Given the description of an element on the screen output the (x, y) to click on. 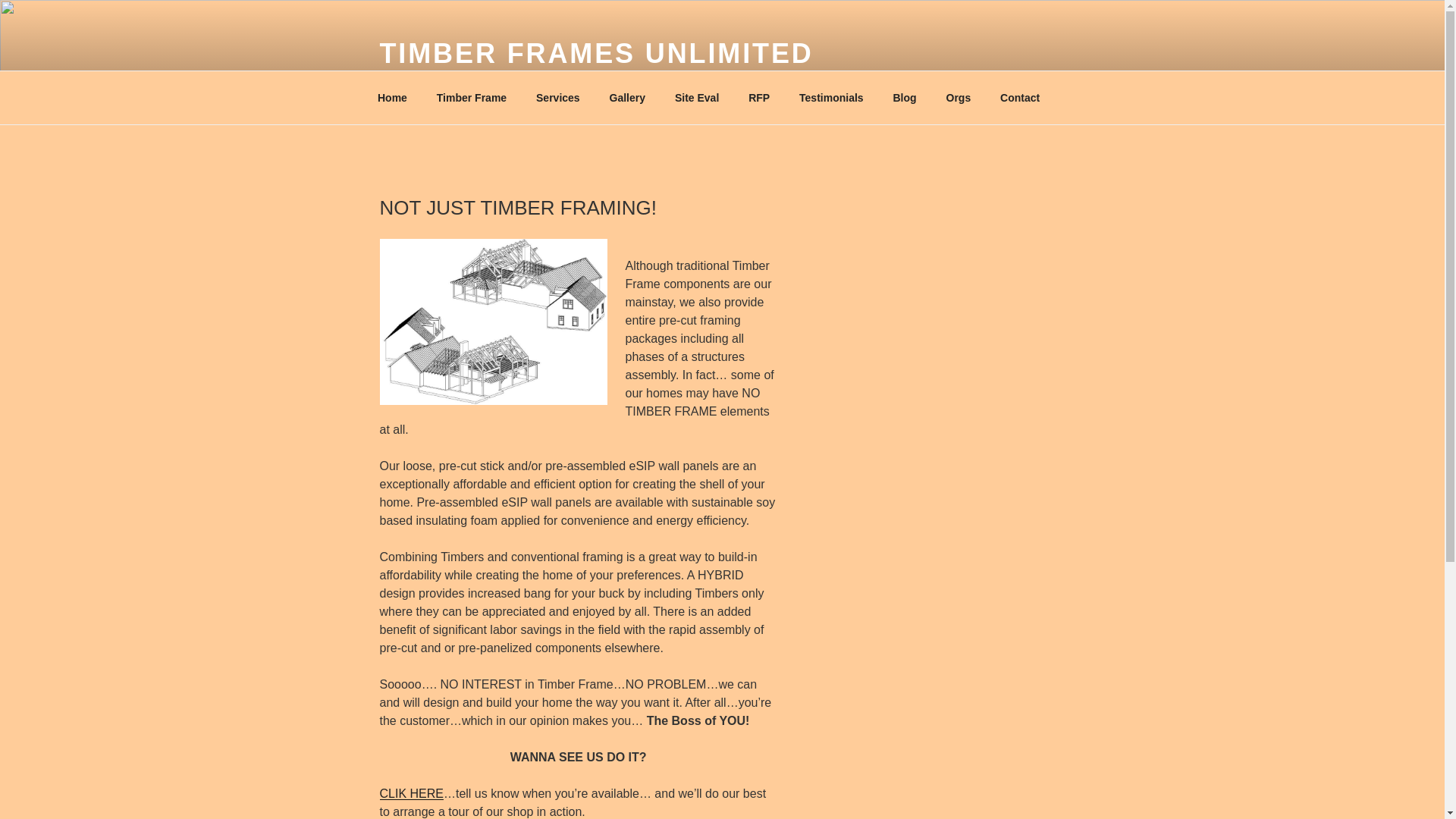
Services (558, 97)
Orgs (958, 97)
Contact (1019, 97)
Timber Frame (471, 97)
CLIK HERE (410, 793)
Blog (904, 97)
Testimonials (831, 97)
Home (392, 97)
RFP (759, 97)
TIMBER FRAMES UNLIMITED (595, 52)
Site Eval (696, 97)
Gallery (626, 97)
